Given the description of an element on the screen output the (x, y) to click on. 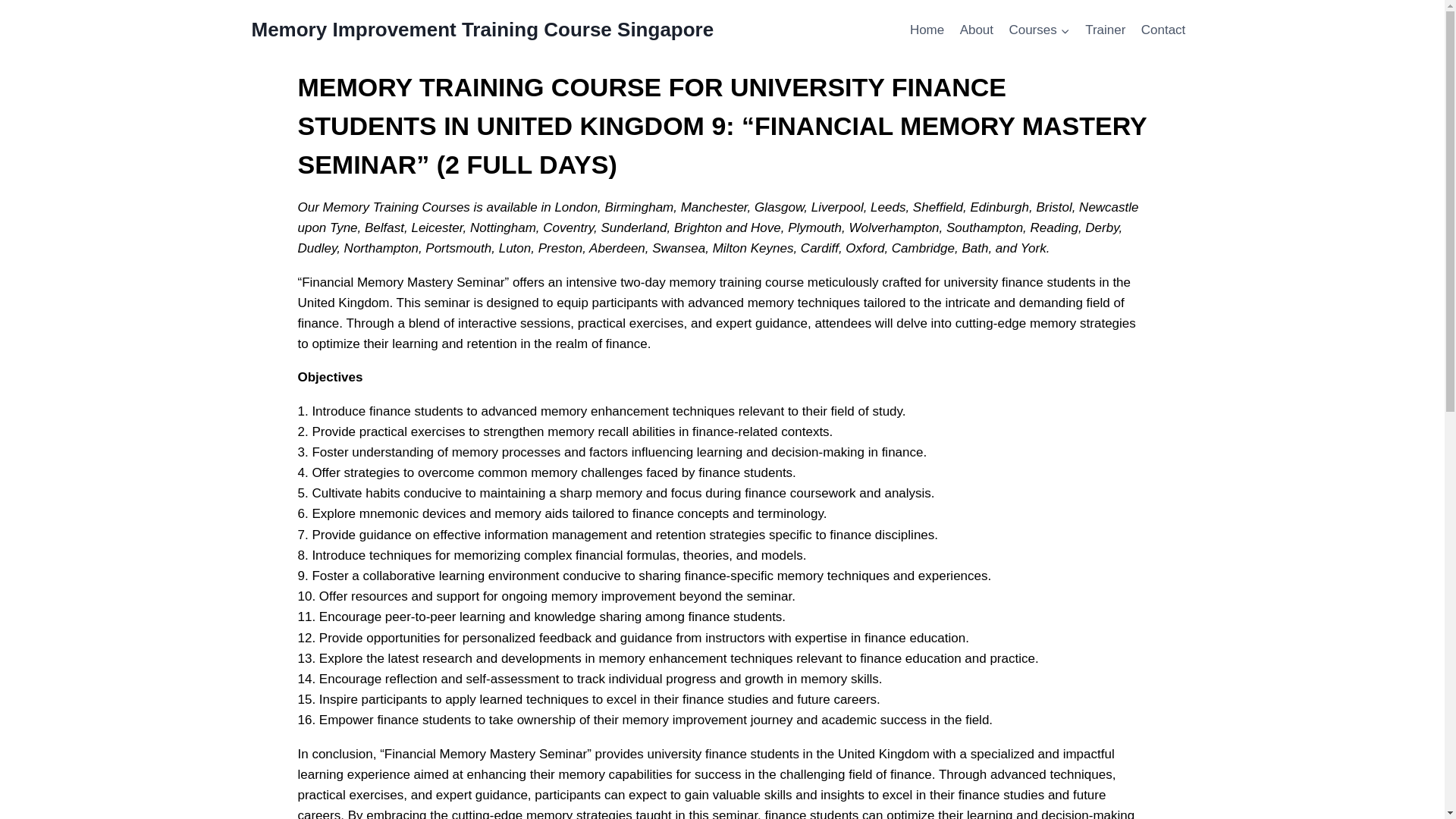
Home (927, 30)
About (976, 30)
Contact (1163, 30)
Trainer (1105, 30)
Courses (1039, 30)
Memory Improvement Training Course Singapore (482, 29)
